Given the description of an element on the screen output the (x, y) to click on. 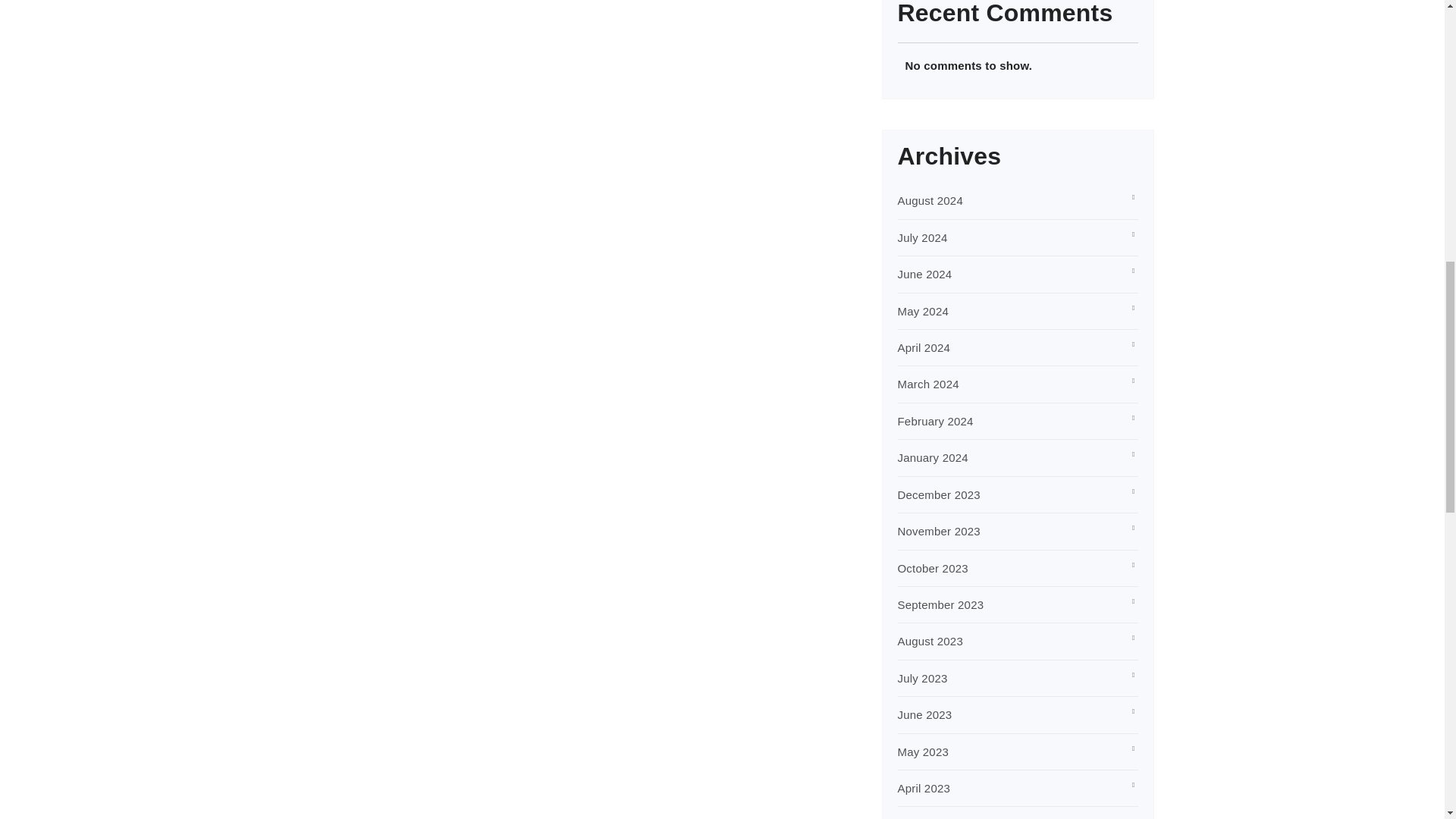
February 2024 (936, 420)
August 2024 (930, 200)
September 2023 (941, 604)
January 2024 (933, 457)
June 2023 (925, 714)
October 2023 (933, 567)
August 2023 (930, 640)
March 2024 (928, 383)
July 2024 (922, 237)
November 2023 (938, 530)
